Given the description of an element on the screen output the (x, y) to click on. 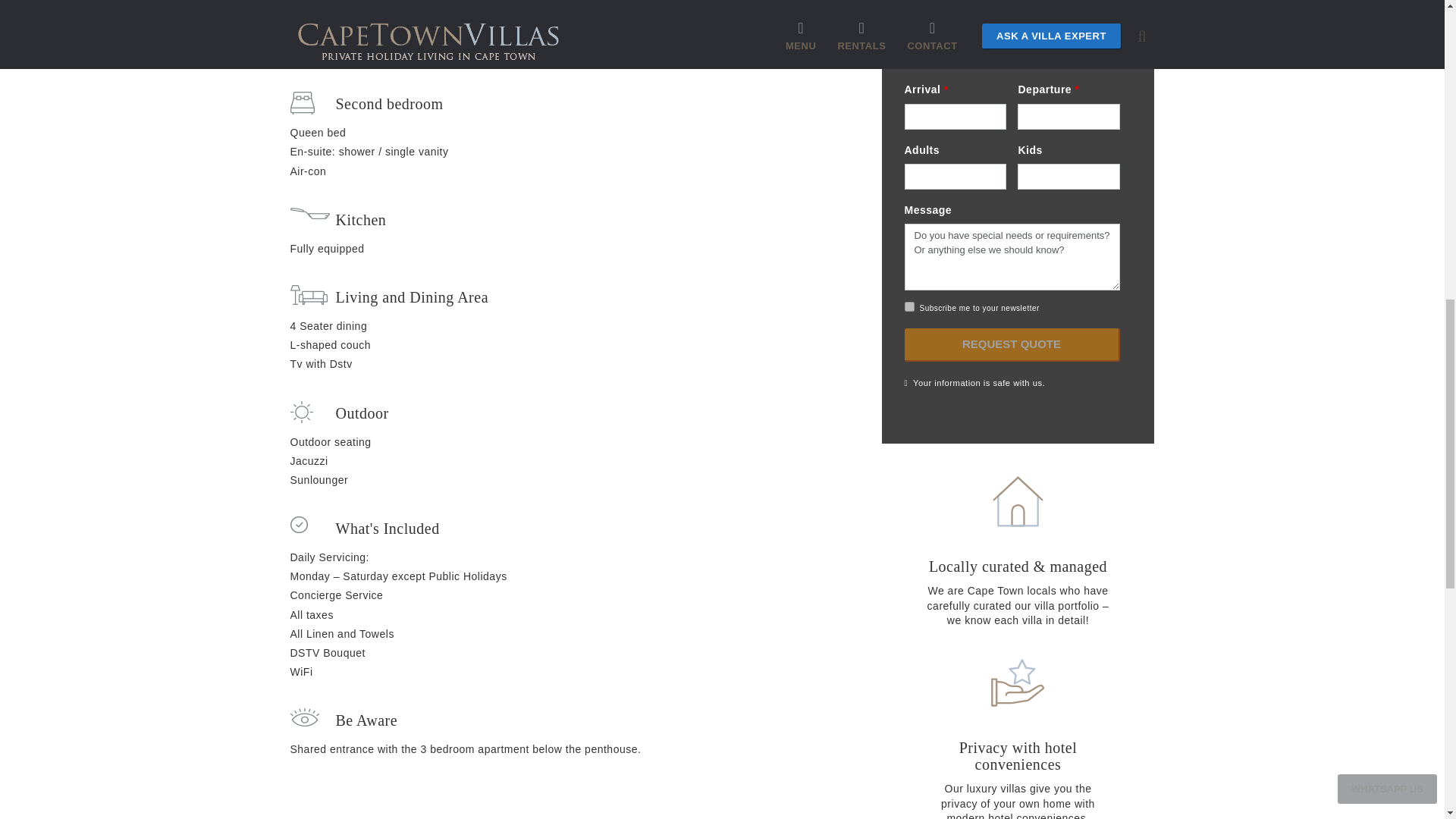
Subscribe me to your newsletter (909, 307)
Request Quote (1011, 344)
